Given the description of an element on the screen output the (x, y) to click on. 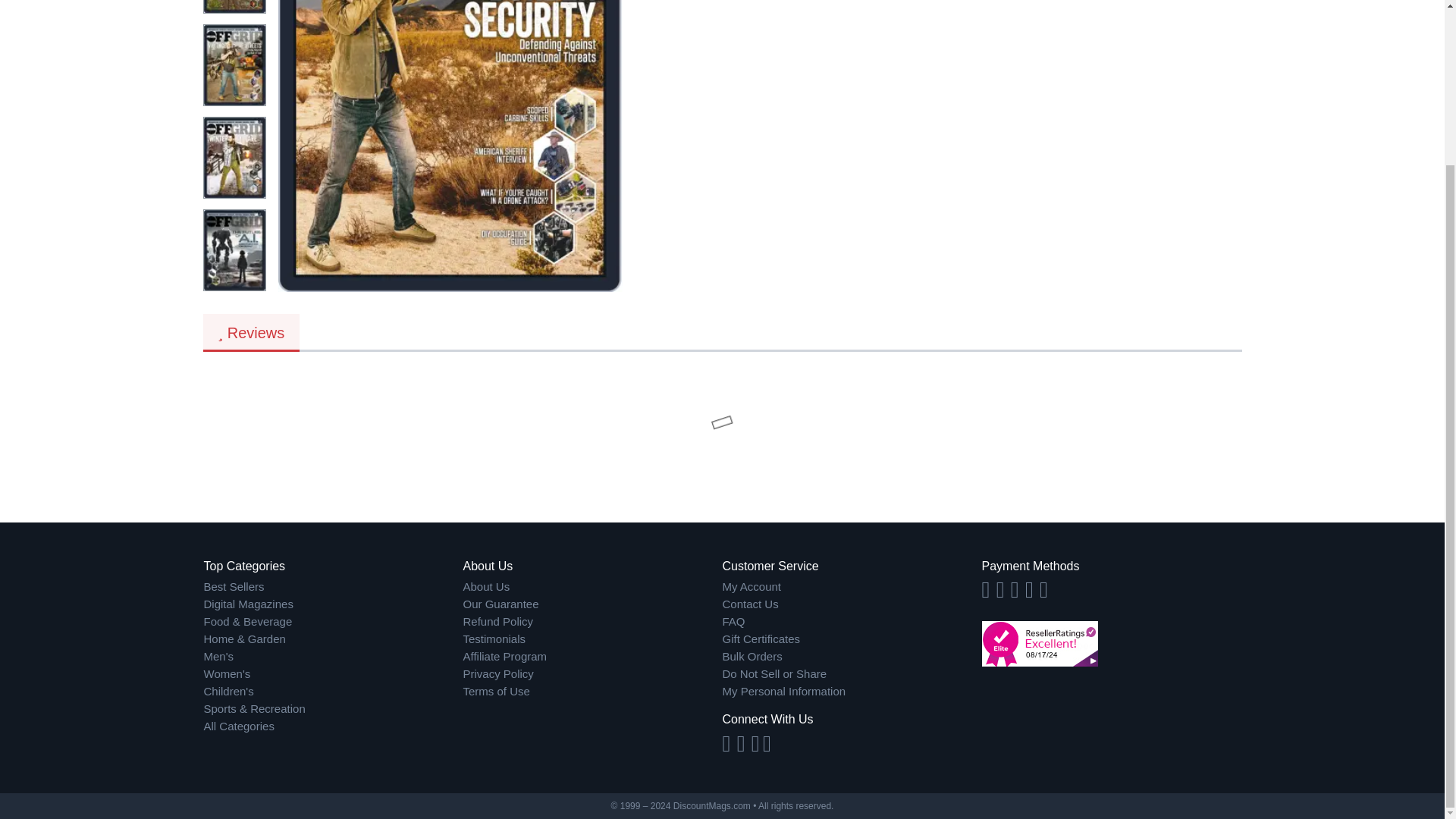
Digital Magazines (333, 604)
Affiliate Program (592, 656)
All Categories (333, 726)
Reviews (251, 332)
RECOIL OFFGRID (450, 145)
FAQ (851, 621)
Terms of Use (592, 692)
Children's (333, 692)
Contact Us (851, 604)
About Us (592, 587)
